Given the description of an element on the screen output the (x, y) to click on. 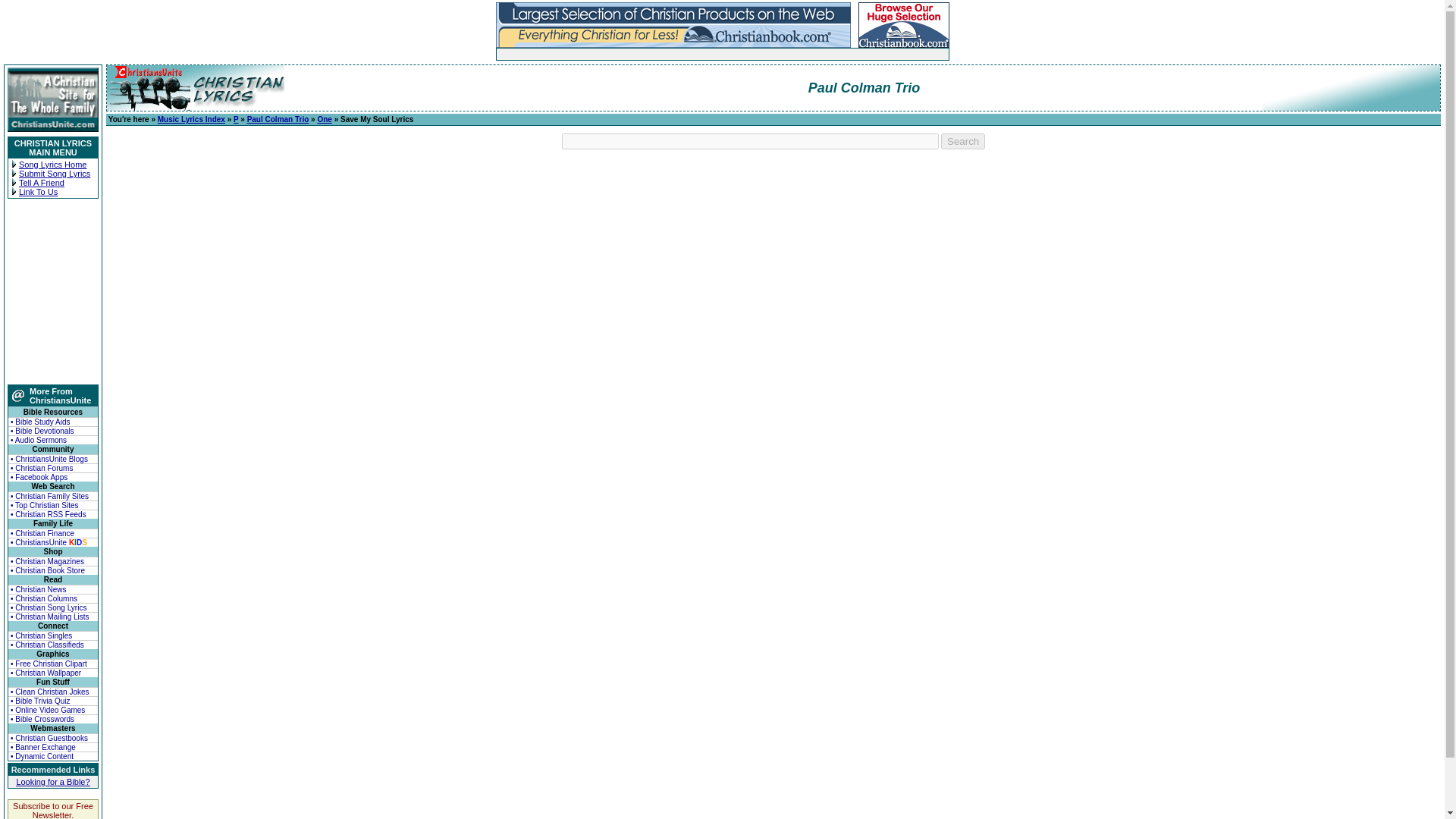
Music Lyrics Index (191, 119)
Search (962, 141)
Tell A Friend (41, 182)
Paul Colman Trio (277, 119)
Looking for a Bible? (52, 781)
Song Lyrics Home (51, 163)
P (235, 119)
One (324, 119)
Link To Us (38, 191)
Submit Song Lyrics (54, 173)
